Given the description of an element on the screen output the (x, y) to click on. 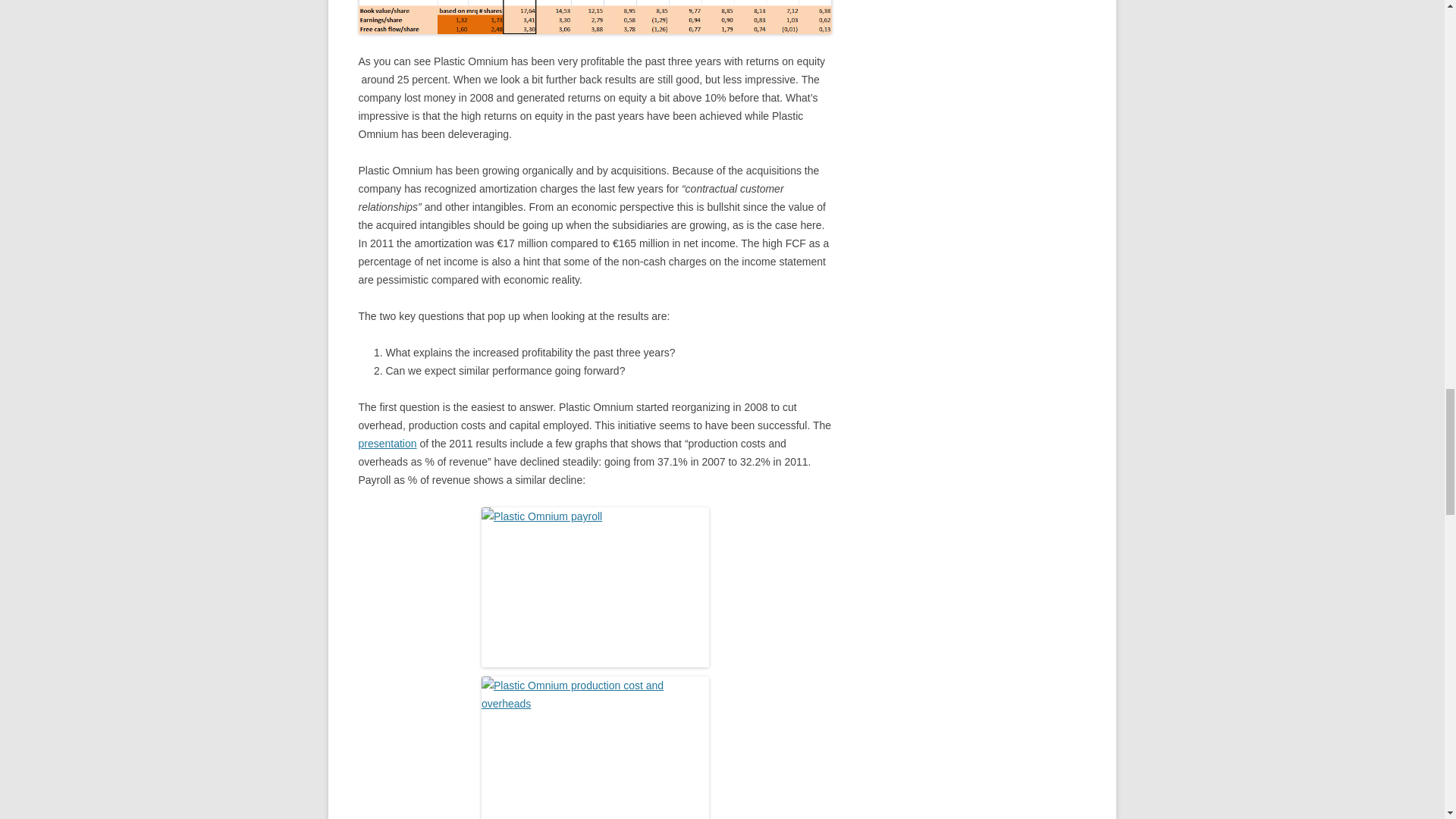
presentation (387, 443)
